Given the description of an element on the screen output the (x, y) to click on. 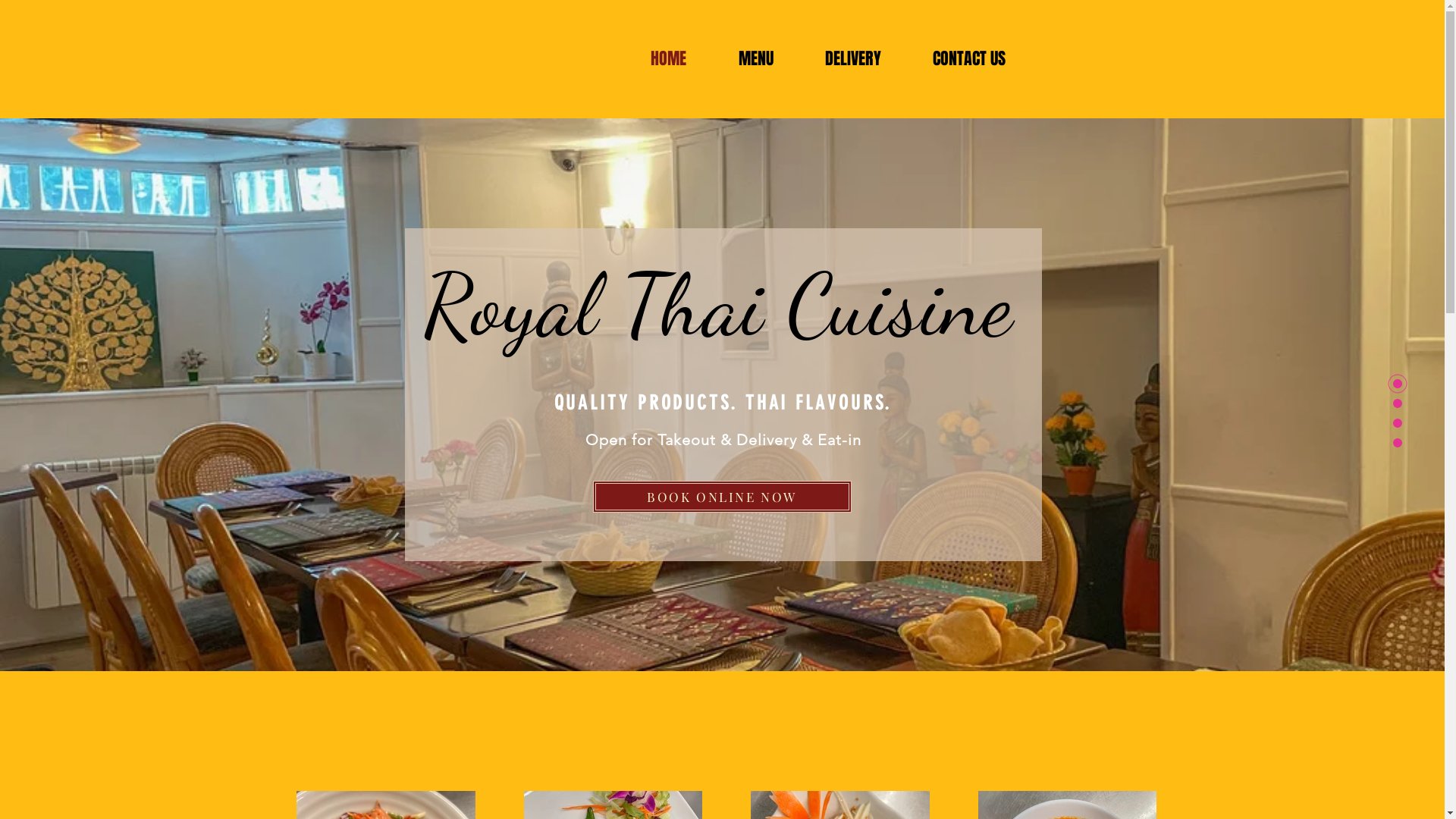
CONTACT US Element type: text (968, 58)
DELIVERY Element type: text (852, 58)
MENU Element type: text (755, 58)
HOME Element type: text (668, 58)
BOOK ONLINE NOW Element type: text (722, 496)
